Given the description of an element on the screen output the (x, y) to click on. 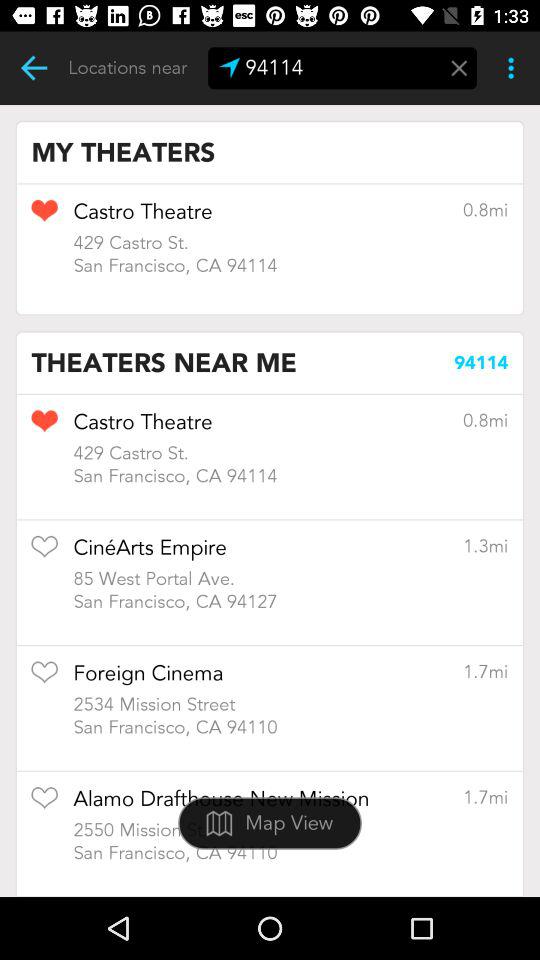
add theater to favorites (44, 217)
